Given the description of an element on the screen output the (x, y) to click on. 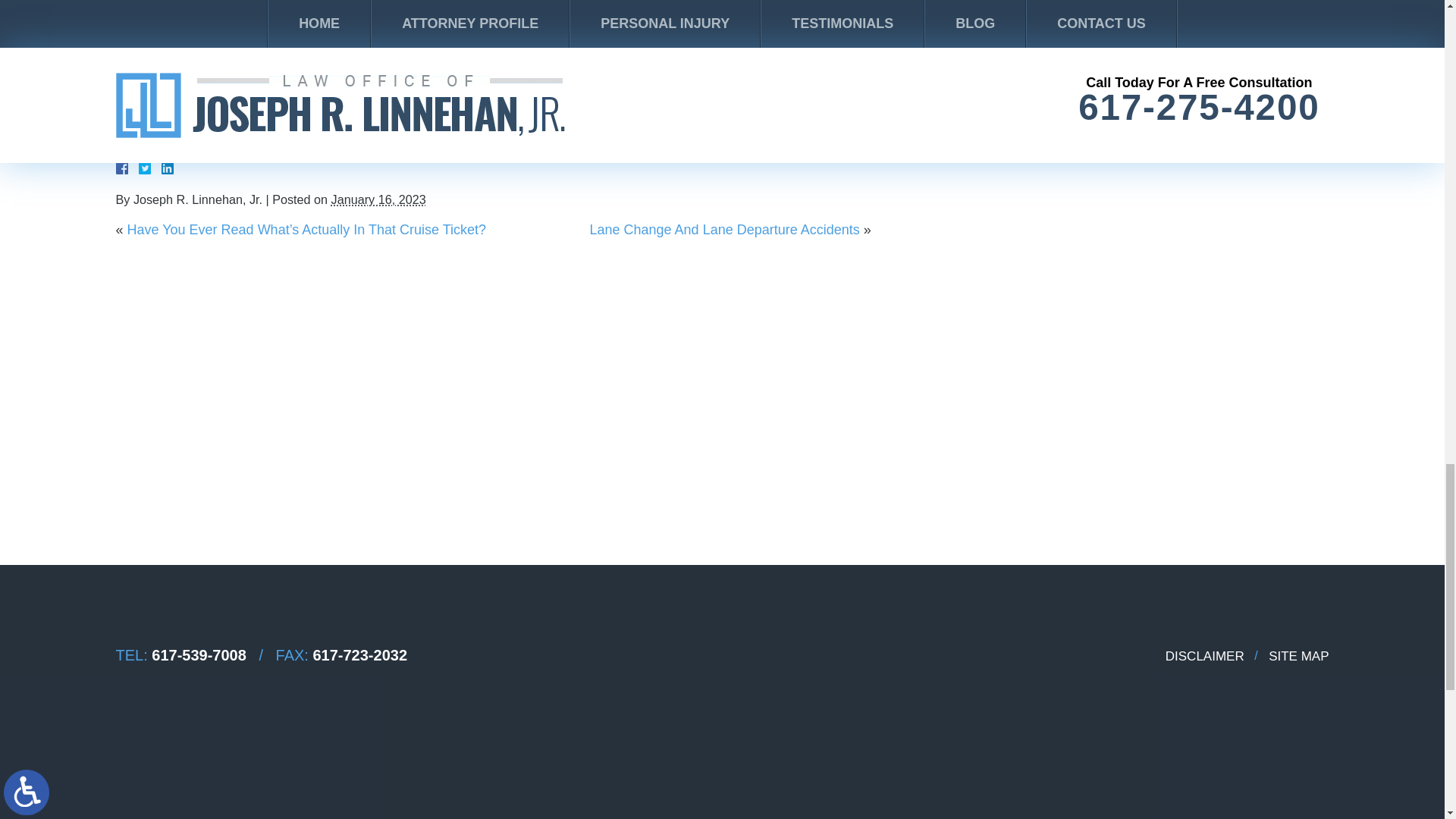
2023-01-16T03:00:35-0800 (378, 199)
Twitter (149, 168)
Facebook (139, 168)
LinkedIn (160, 168)
